Given the description of an element on the screen output the (x, y) to click on. 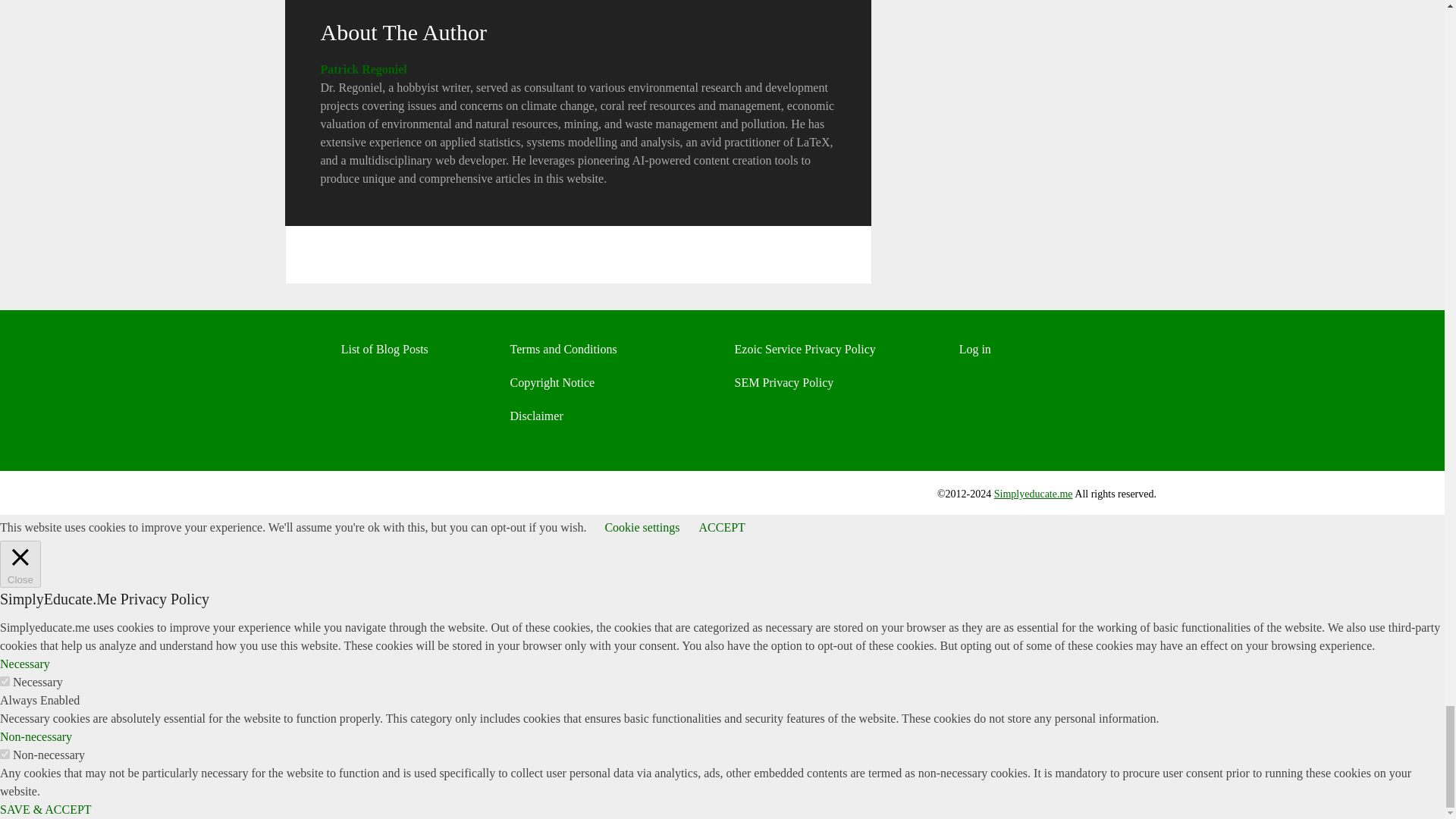
on (5, 754)
on (5, 681)
